Given the description of an element on the screen output the (x, y) to click on. 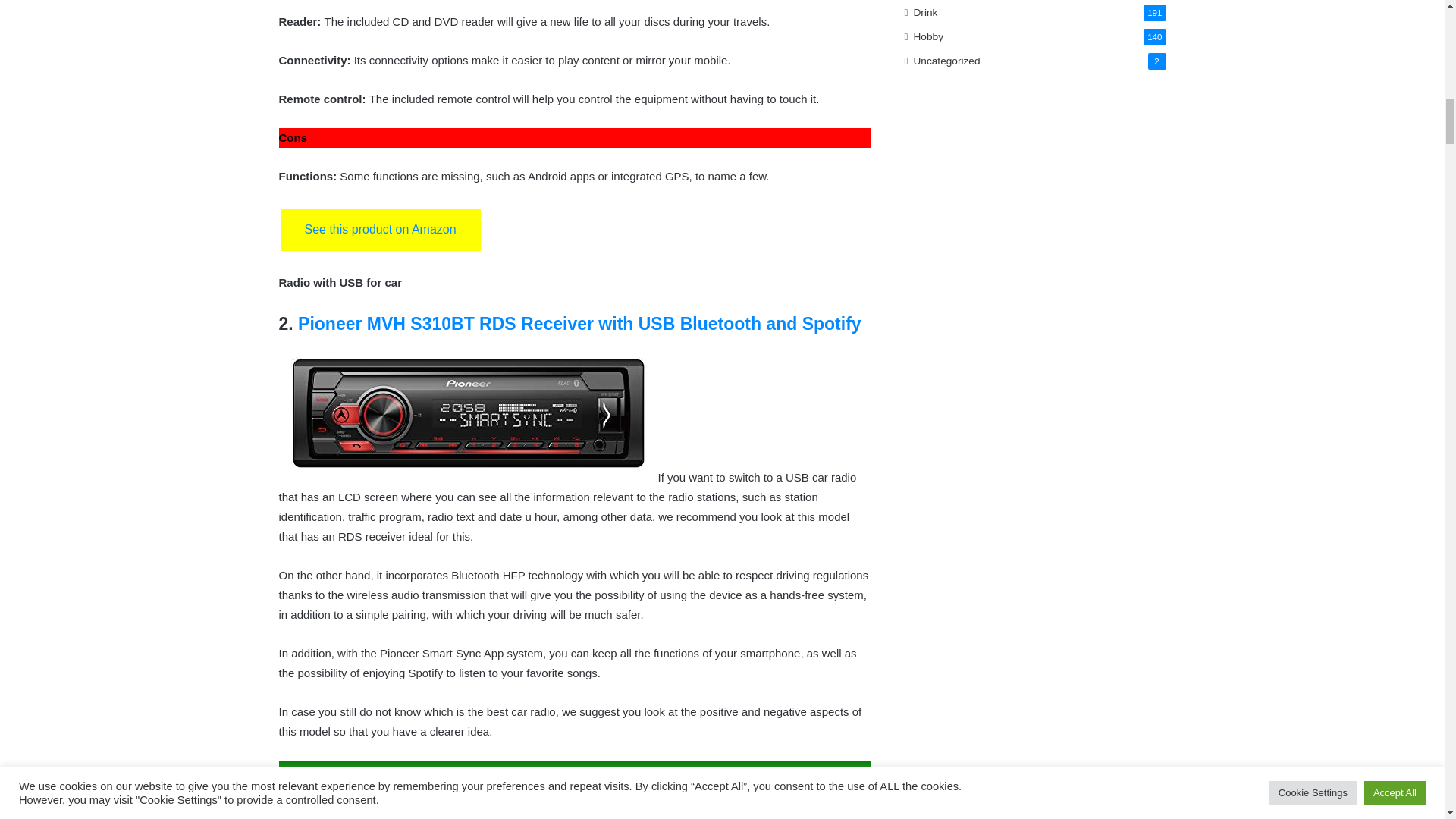
See this product on Amazon (380, 229)
